Given the description of an element on the screen output the (x, y) to click on. 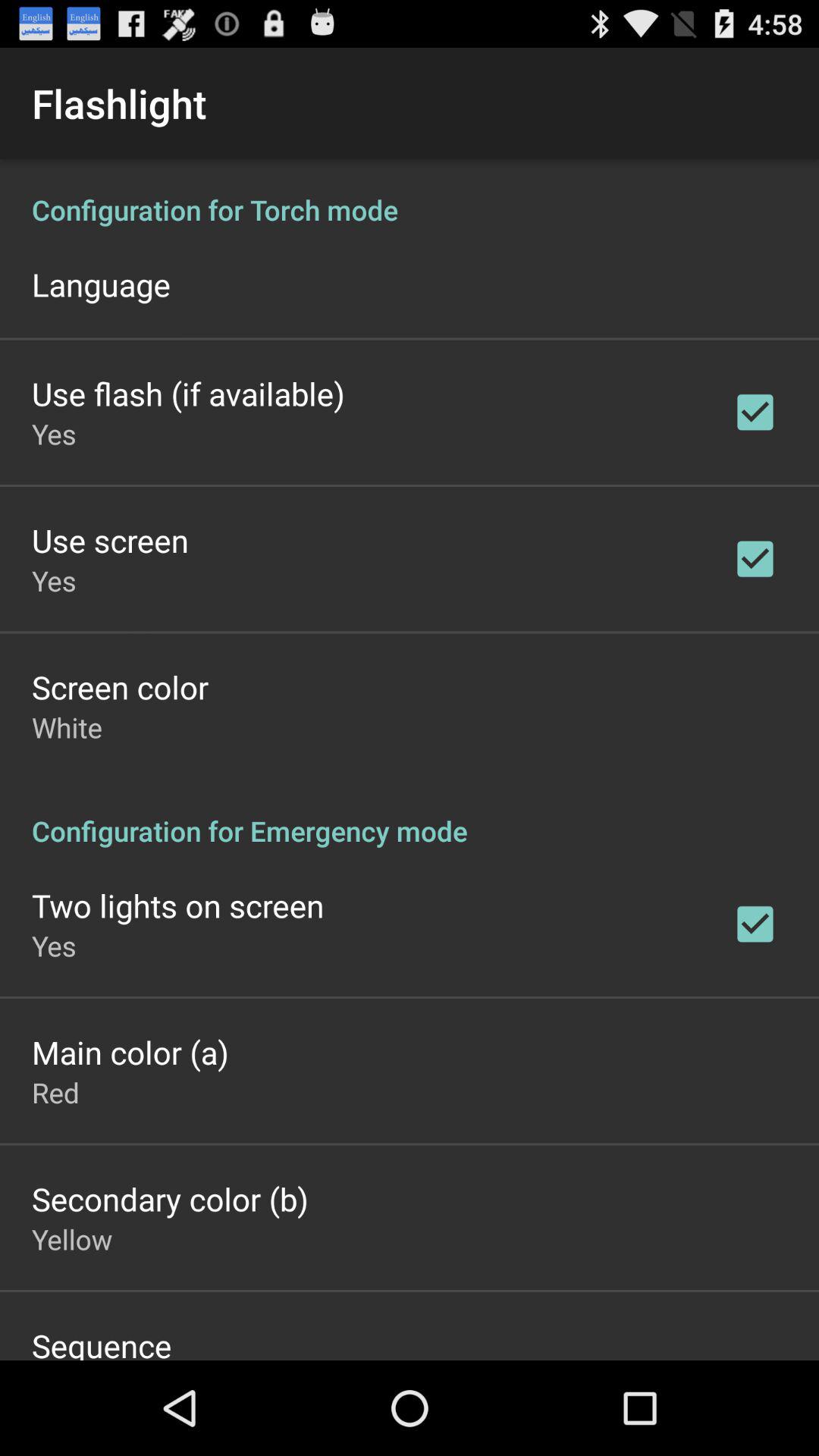
scroll to the main color (a) icon (129, 1051)
